Given the description of an element on the screen output the (x, y) to click on. 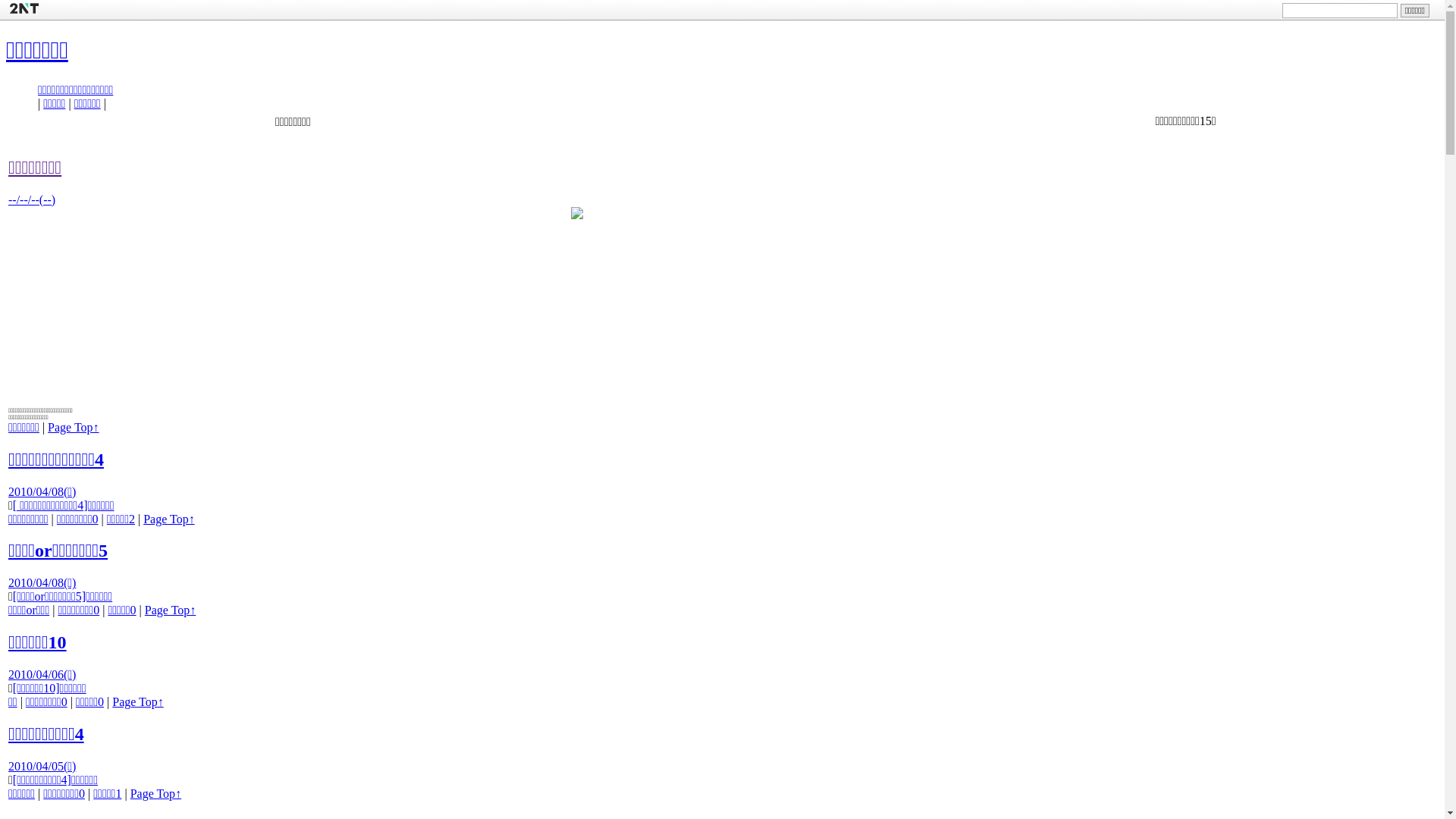
--/--/--(--) Element type: text (31, 199)
